Given the description of an element on the screen output the (x, y) to click on. 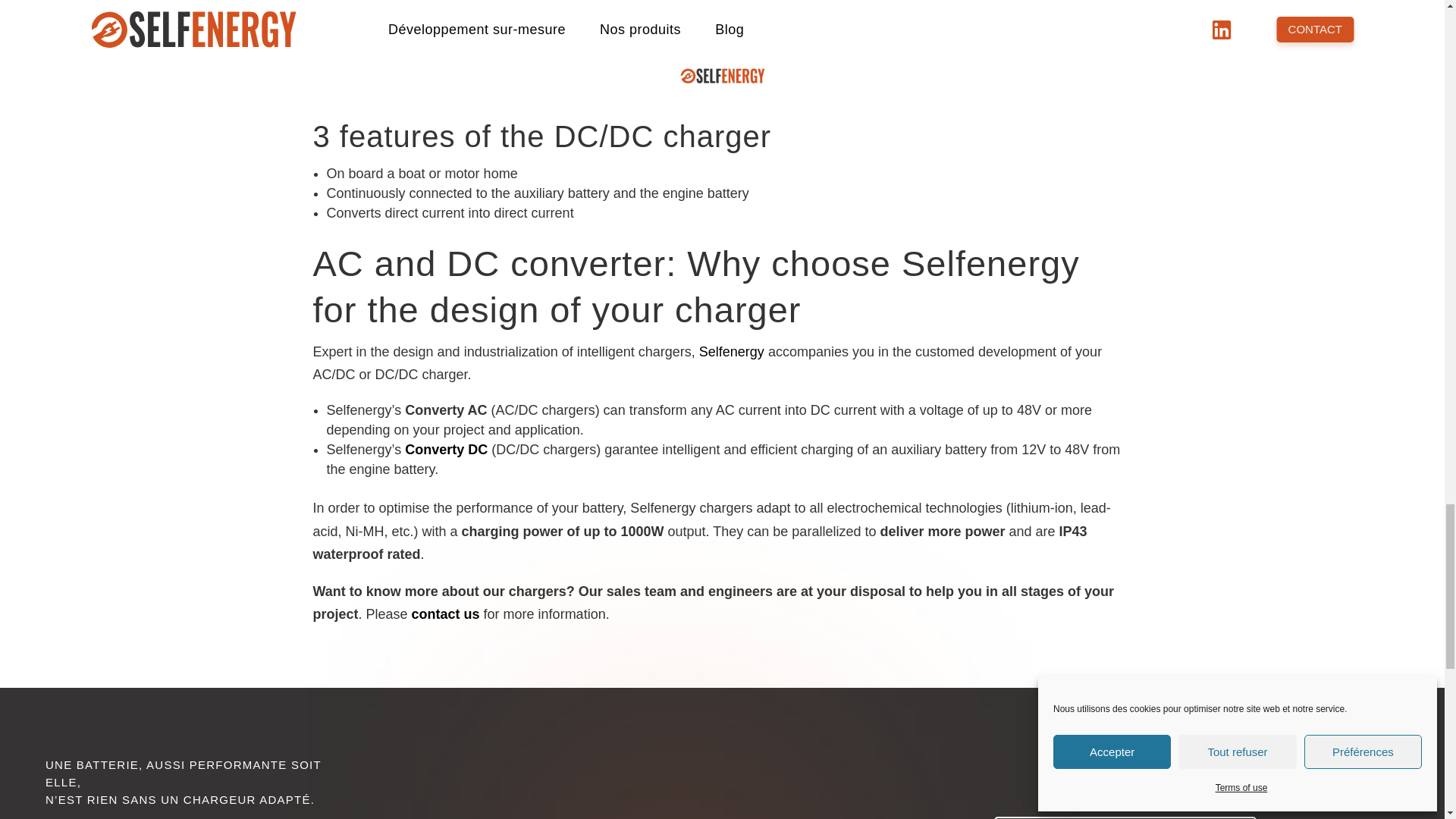
Converty DC (445, 449)
Selfenergy (731, 351)
contact us (446, 613)
